Given the description of an element on the screen output the (x, y) to click on. 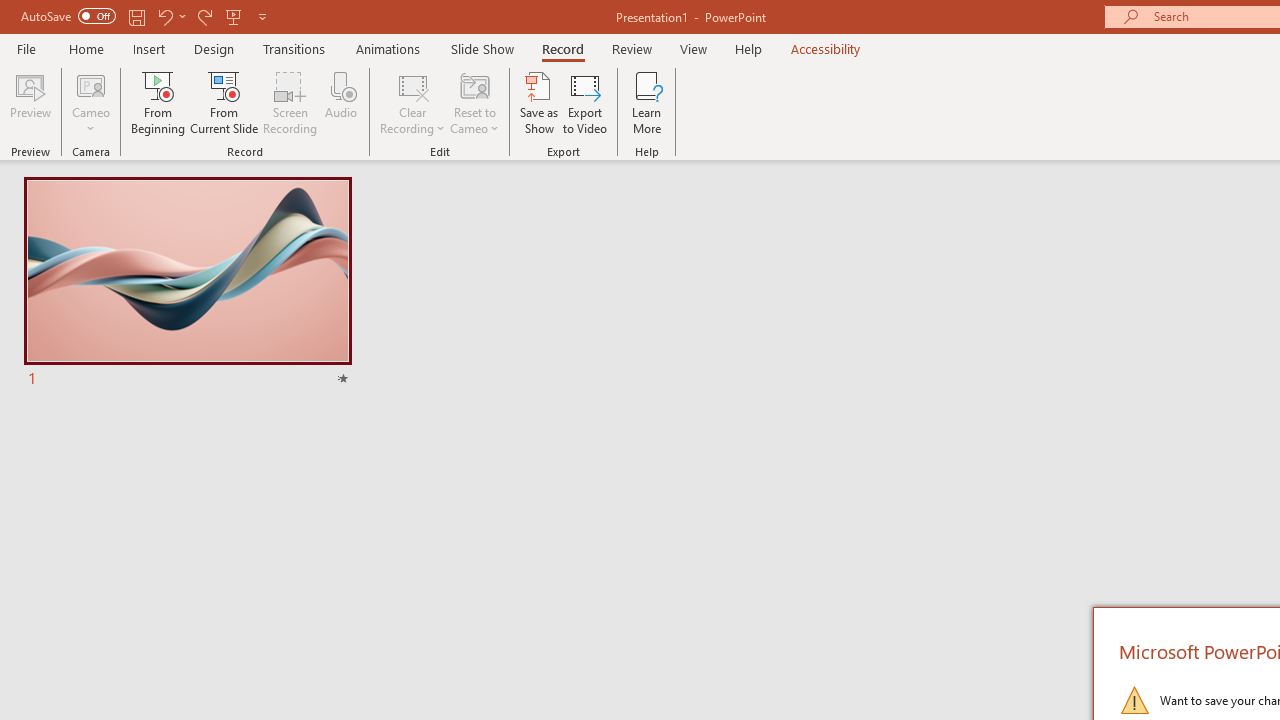
Audio (341, 102)
